Given the description of an element on the screen output the (x, y) to click on. 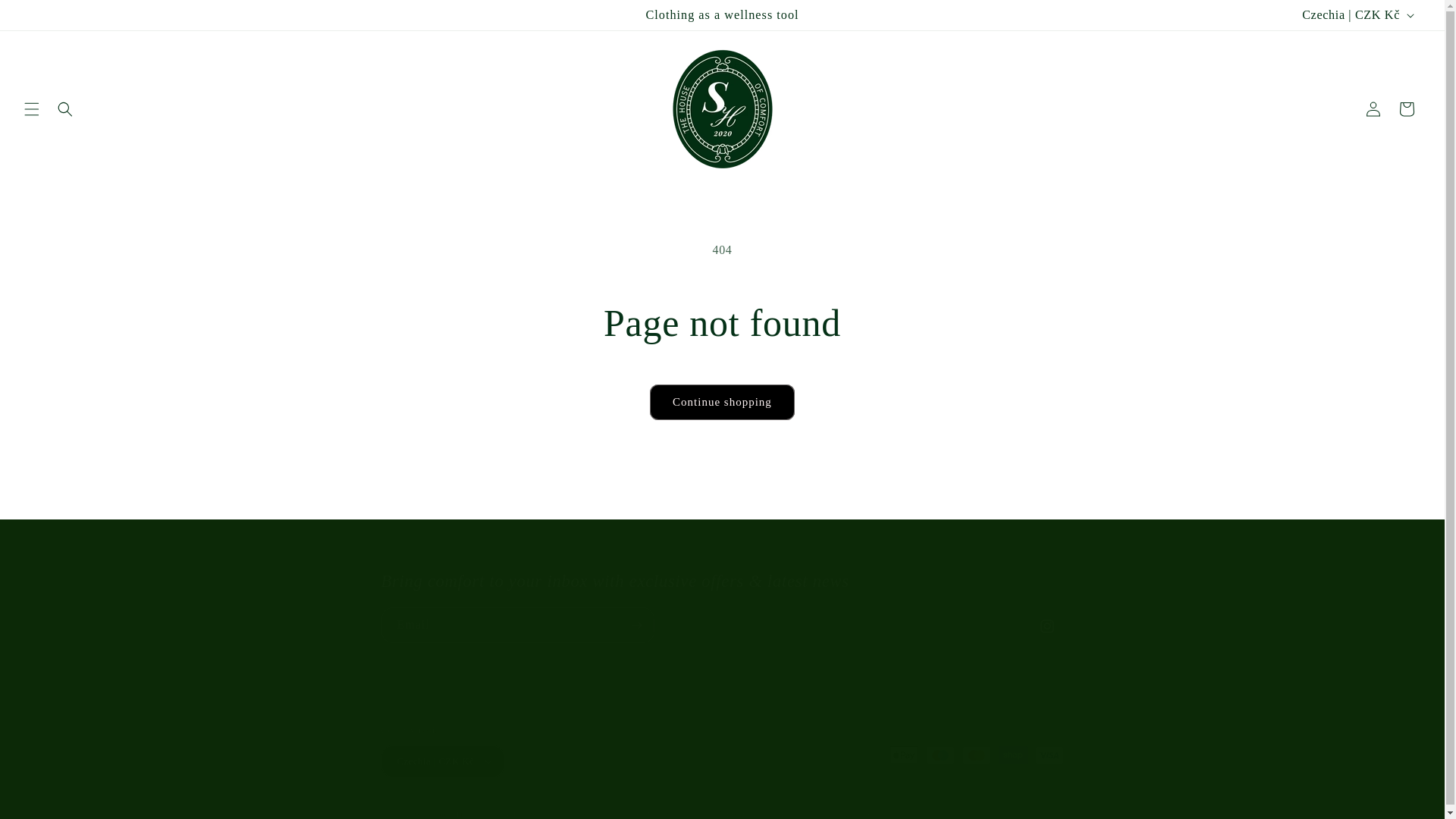
Powered by Shopify (521, 814)
Cart (1406, 109)
Contact information (754, 812)
Terms of service (840, 812)
Sadalsuud House (447, 814)
Refund policy (602, 812)
Instagram (1045, 625)
Skip to content (45, 17)
Privacy policy (673, 812)
Continue shopping (721, 402)
